Given the description of an element on the screen output the (x, y) to click on. 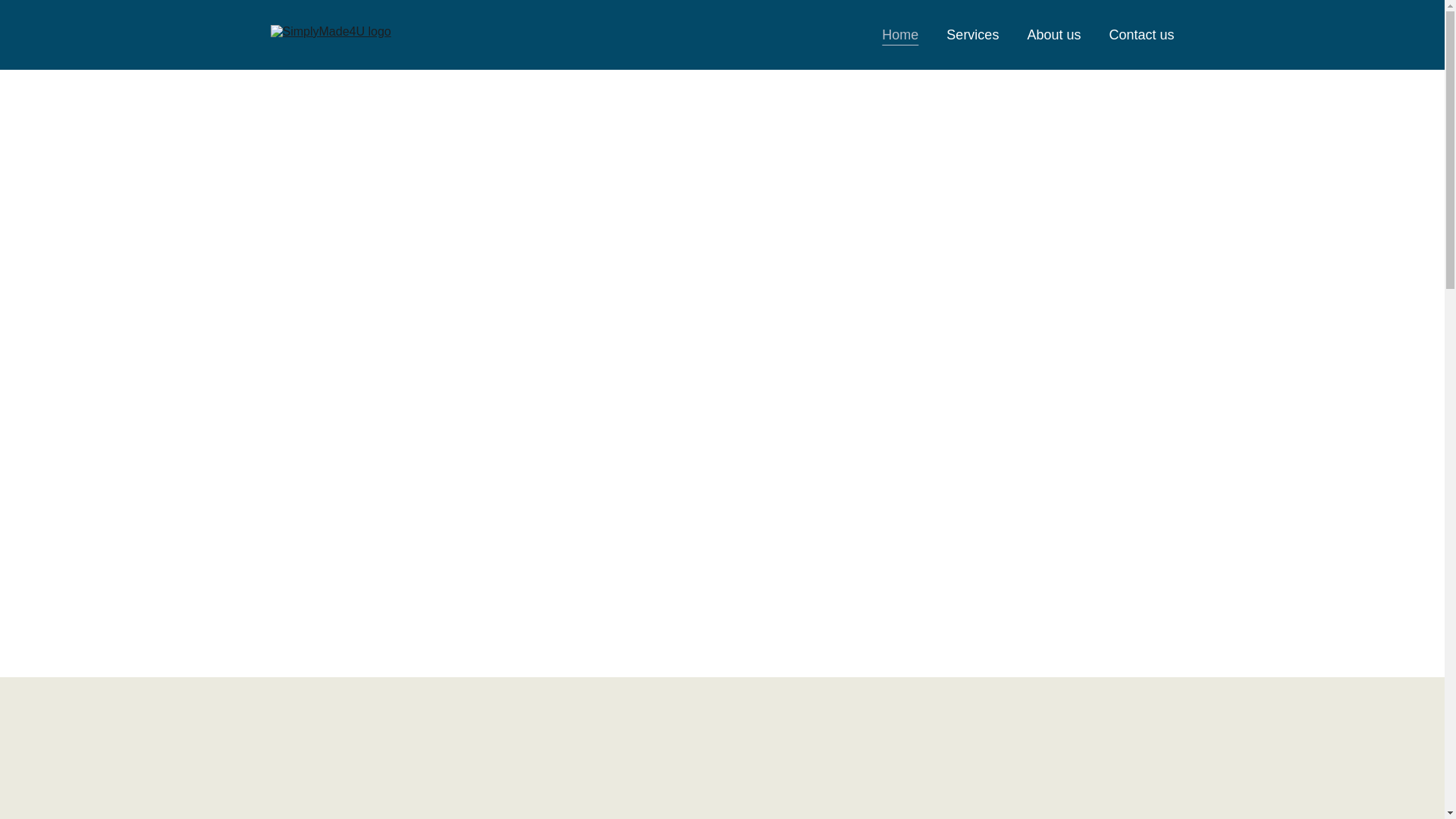
Services (972, 34)
About us (1053, 34)
Home (900, 34)
Contact us (1140, 34)
